Given the description of an element on the screen output the (x, y) to click on. 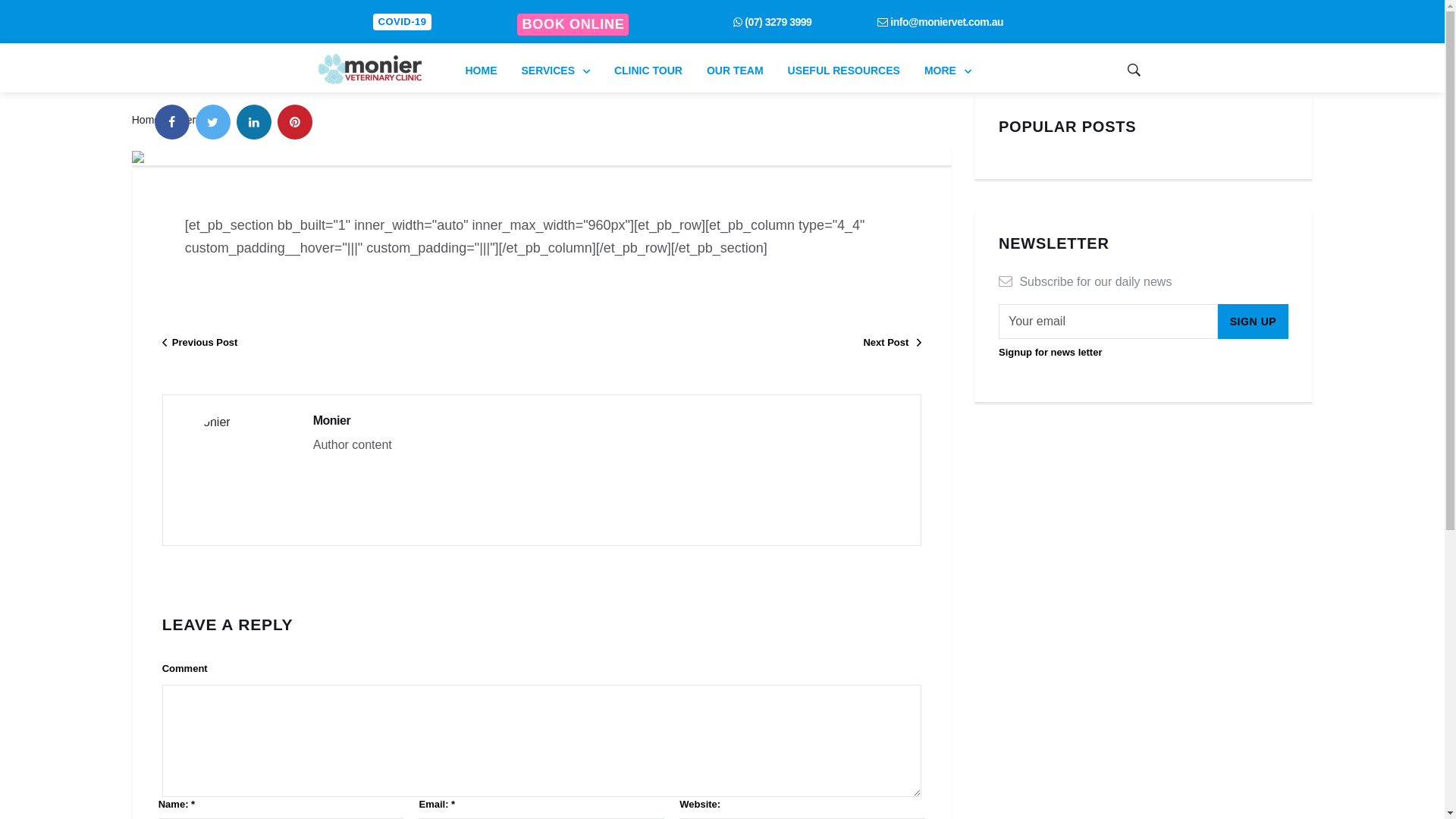
MORE Element type: text (947, 70)
SERVICES Element type: text (555, 70)
pinterest Element type: hover (294, 121)
Linked in Element type: hover (253, 121)
Monier Element type: text (331, 420)
BOOK ONLINE Element type: text (572, 24)
COVID-19 Element type: text (401, 21)
USEFUL RESOURCES Element type: text (843, 70)
HOME Element type: text (481, 70)
COVID-19 Element type: text (401, 21)
Home Element type: text (145, 119)
Sign Up Element type: text (1253, 321)
Next Post Element type: text (731, 343)
CLINIC TOUR Element type: text (648, 70)
BOOK ONLINE Element type: text (572, 23)
twitter Element type: hover (212, 121)
facebook Element type: hover (171, 121)
Previous Post Element type: text (352, 343)
OUR TEAM Element type: text (734, 70)
